Given the description of an element on the screen output the (x, y) to click on. 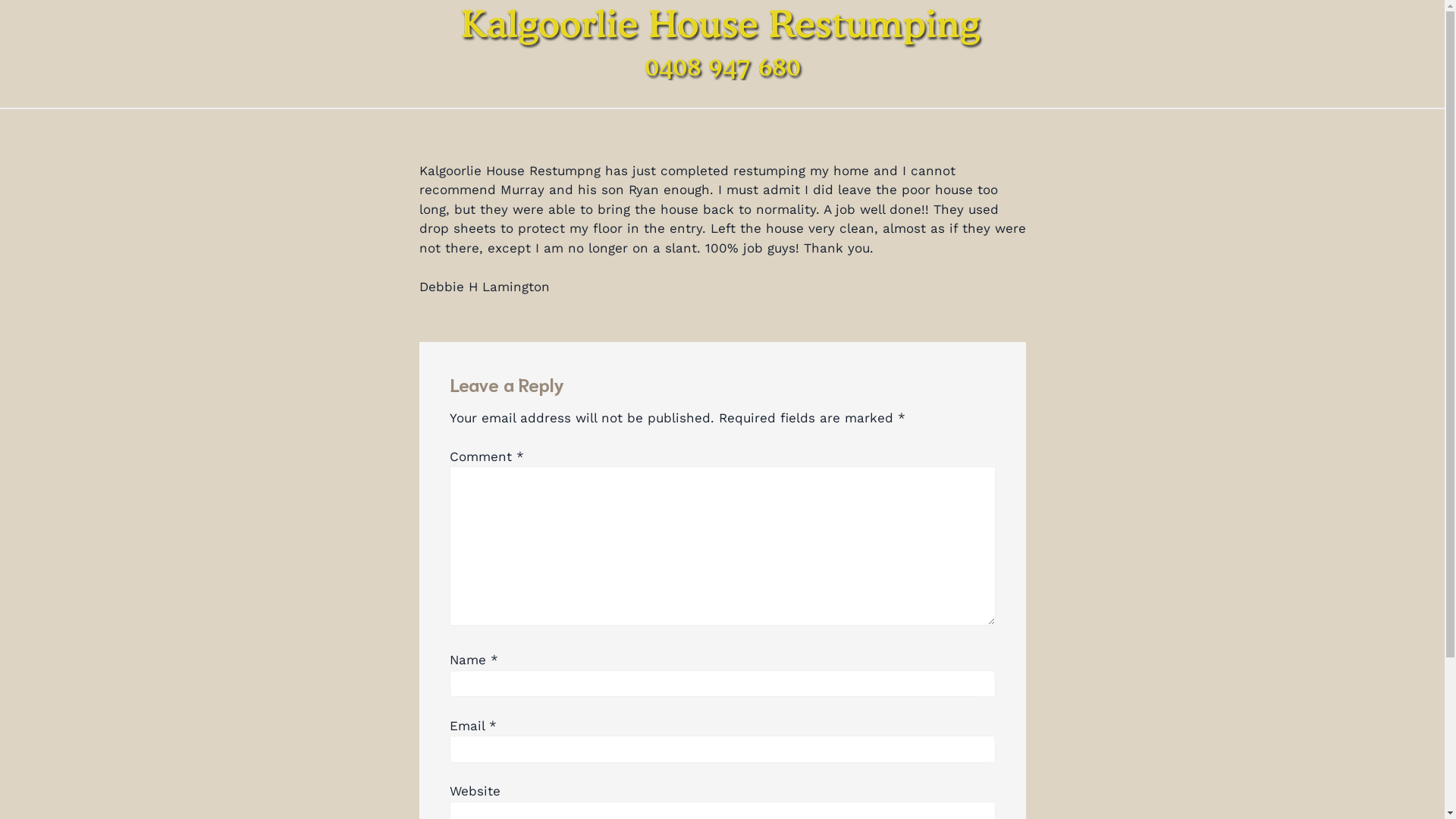
KALGOORLIE HOUSE RESTUMPING Element type: text (282, 97)
